Given the description of an element on the screen output the (x, y) to click on. 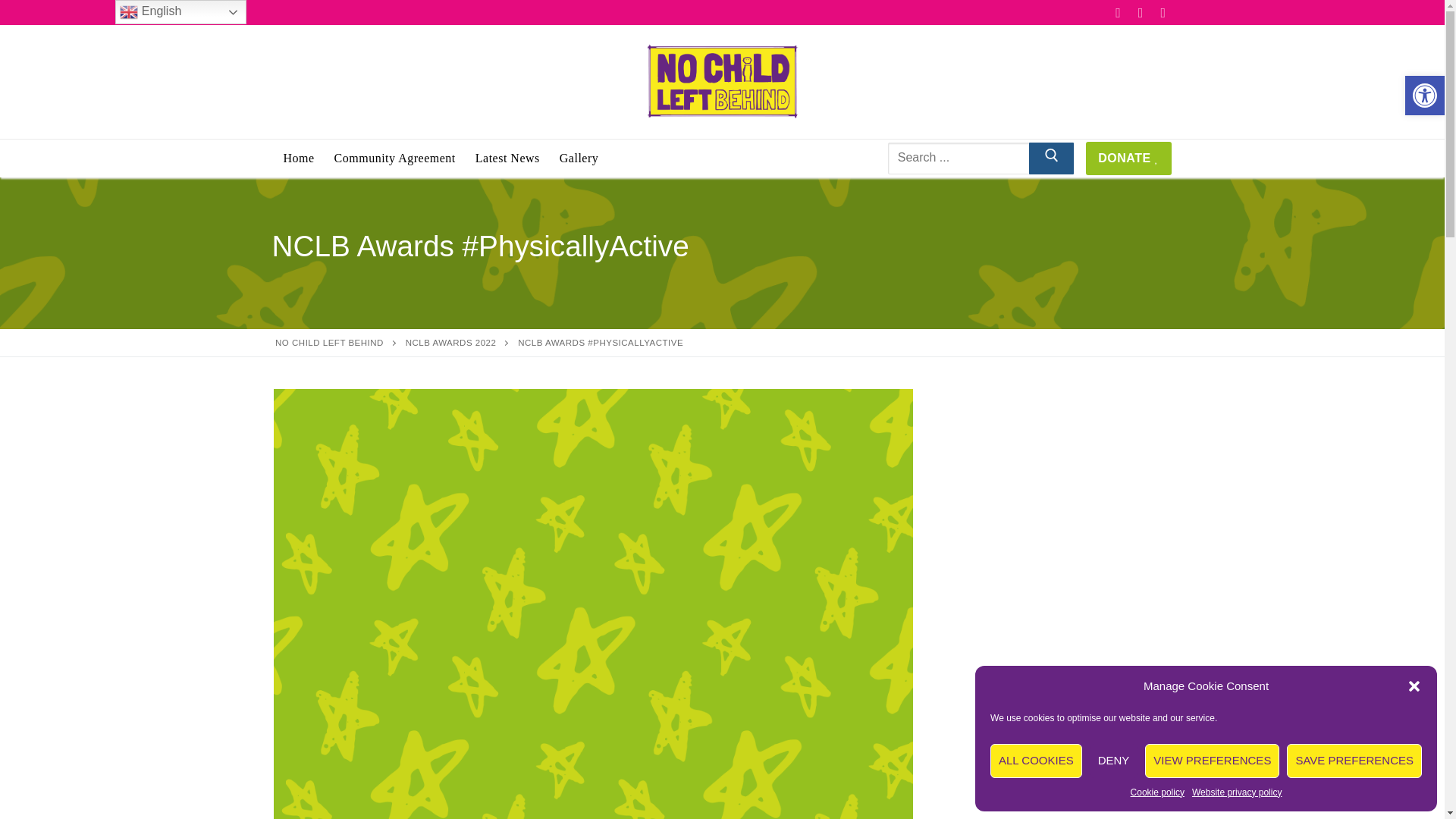
Community Agreement (394, 158)
Youtube (1163, 12)
Accessibility Tools (1424, 95)
Cookie policy (1158, 792)
Go to No Child Left Behind. (329, 342)
Website privacy policy (1237, 792)
Gallery (579, 158)
Latest News (507, 158)
Facebook (1118, 12)
SAVE PREFERENCES (1354, 760)
Home (298, 158)
Search for: (973, 157)
Go to NCLB Awards 2022. (451, 342)
ALL COOKIES (1035, 760)
DENY (1113, 760)
